Given the description of an element on the screen output the (x, y) to click on. 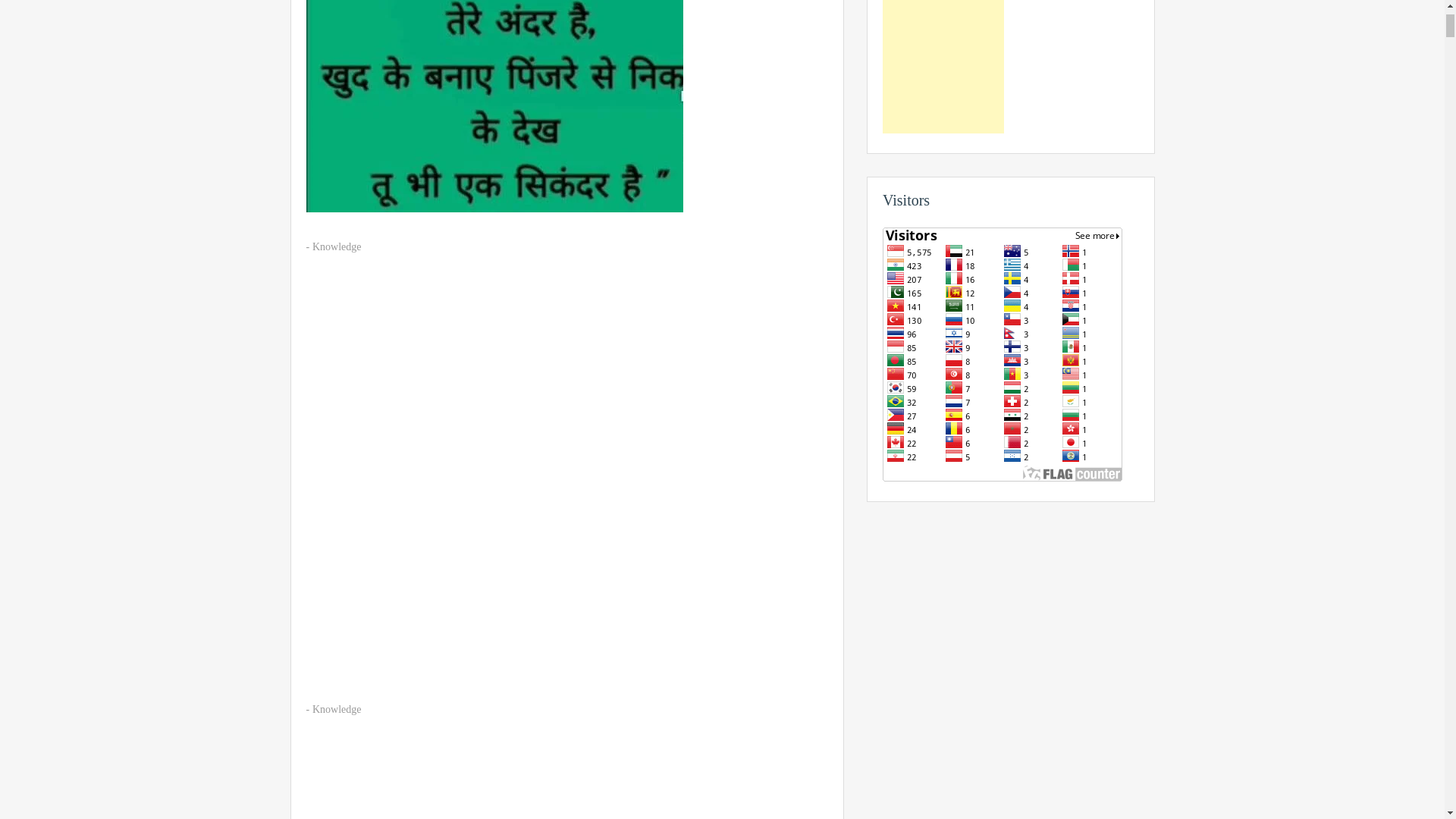
Knowledge (337, 246)
Knowledge (337, 708)
